Given the description of an element on the screen output the (x, y) to click on. 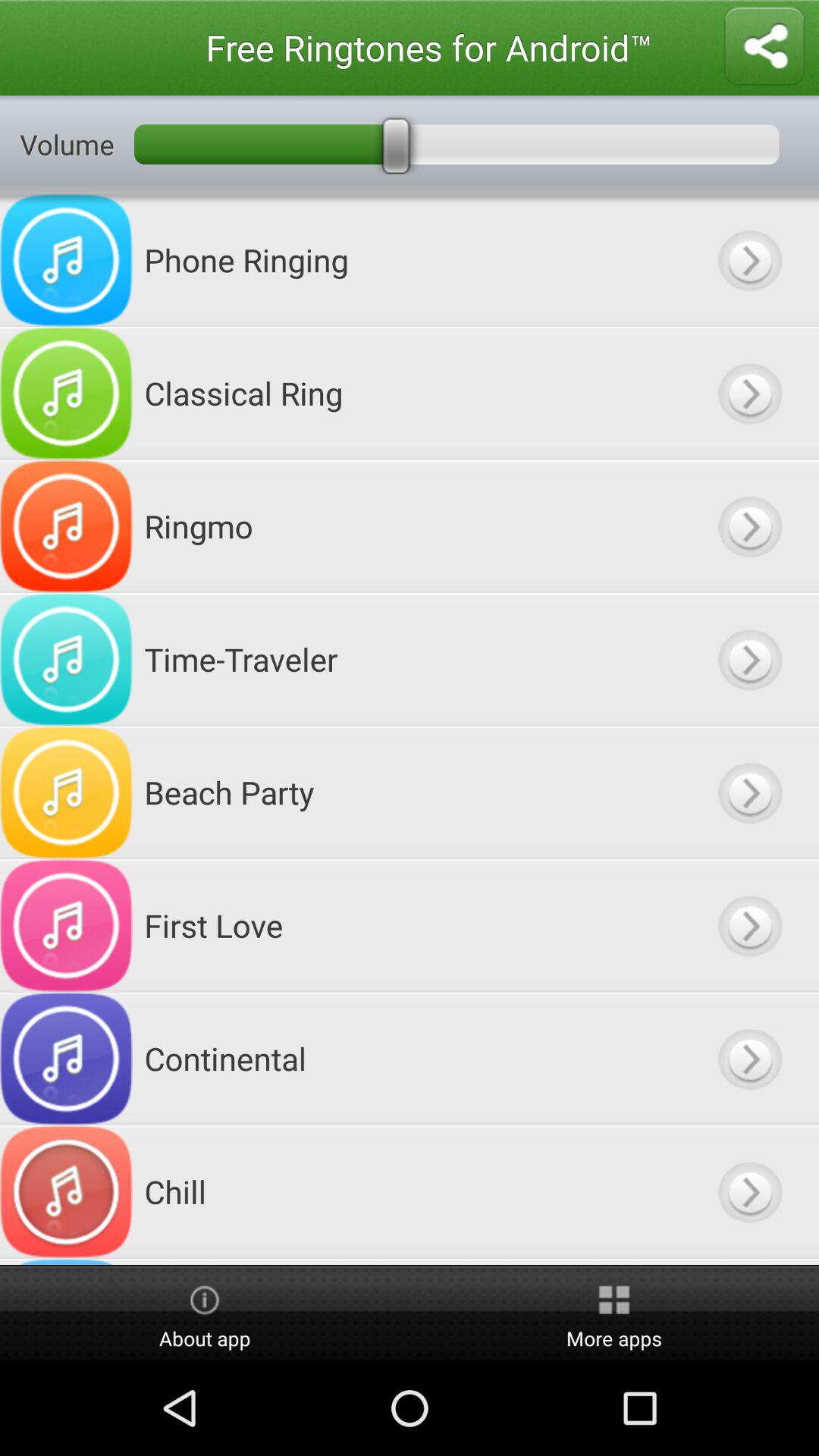
play button (749, 259)
